Given the description of an element on the screen output the (x, y) to click on. 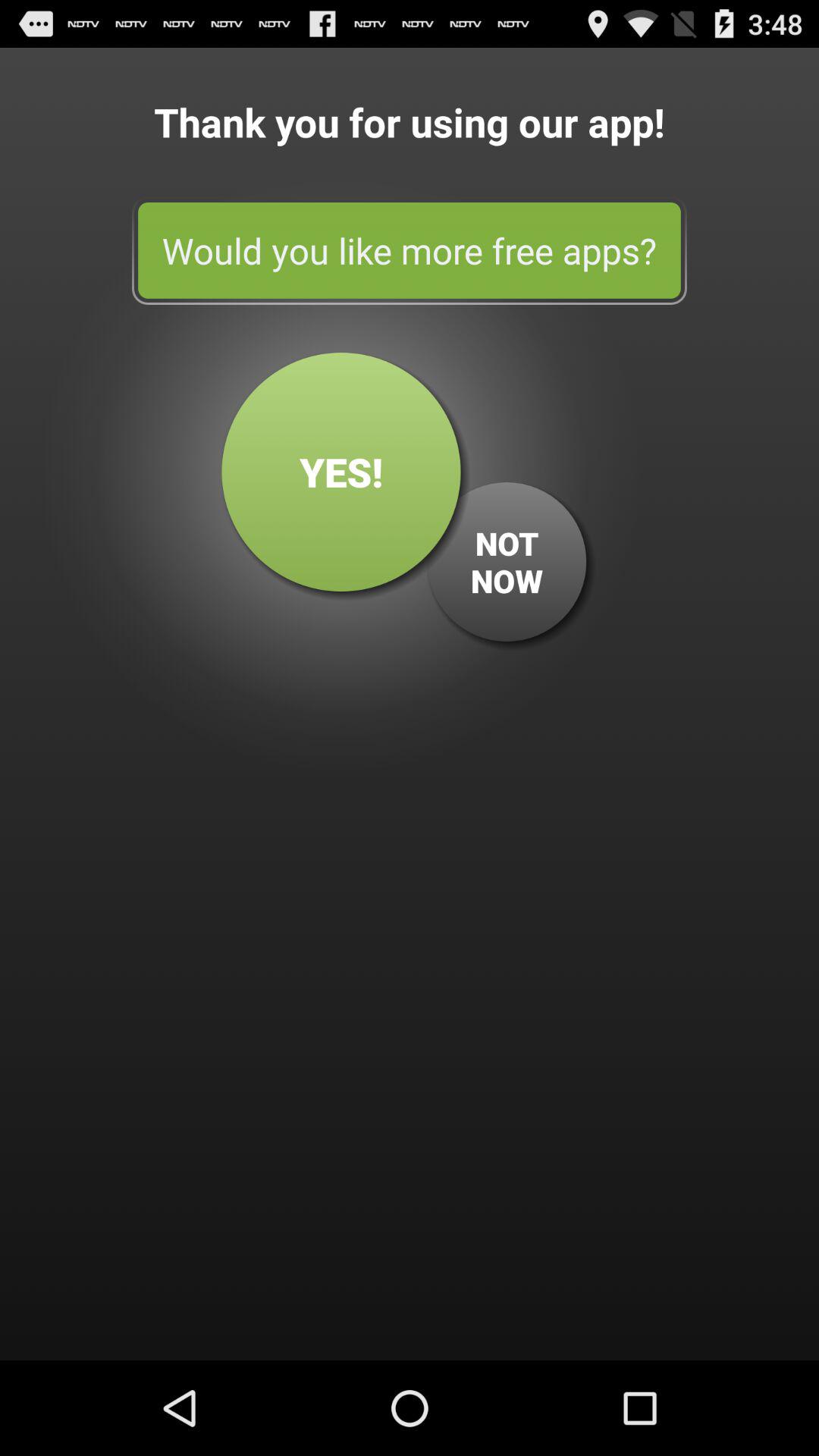
click the item below the would you like icon (340, 471)
